Given the description of an element on the screen output the (x, y) to click on. 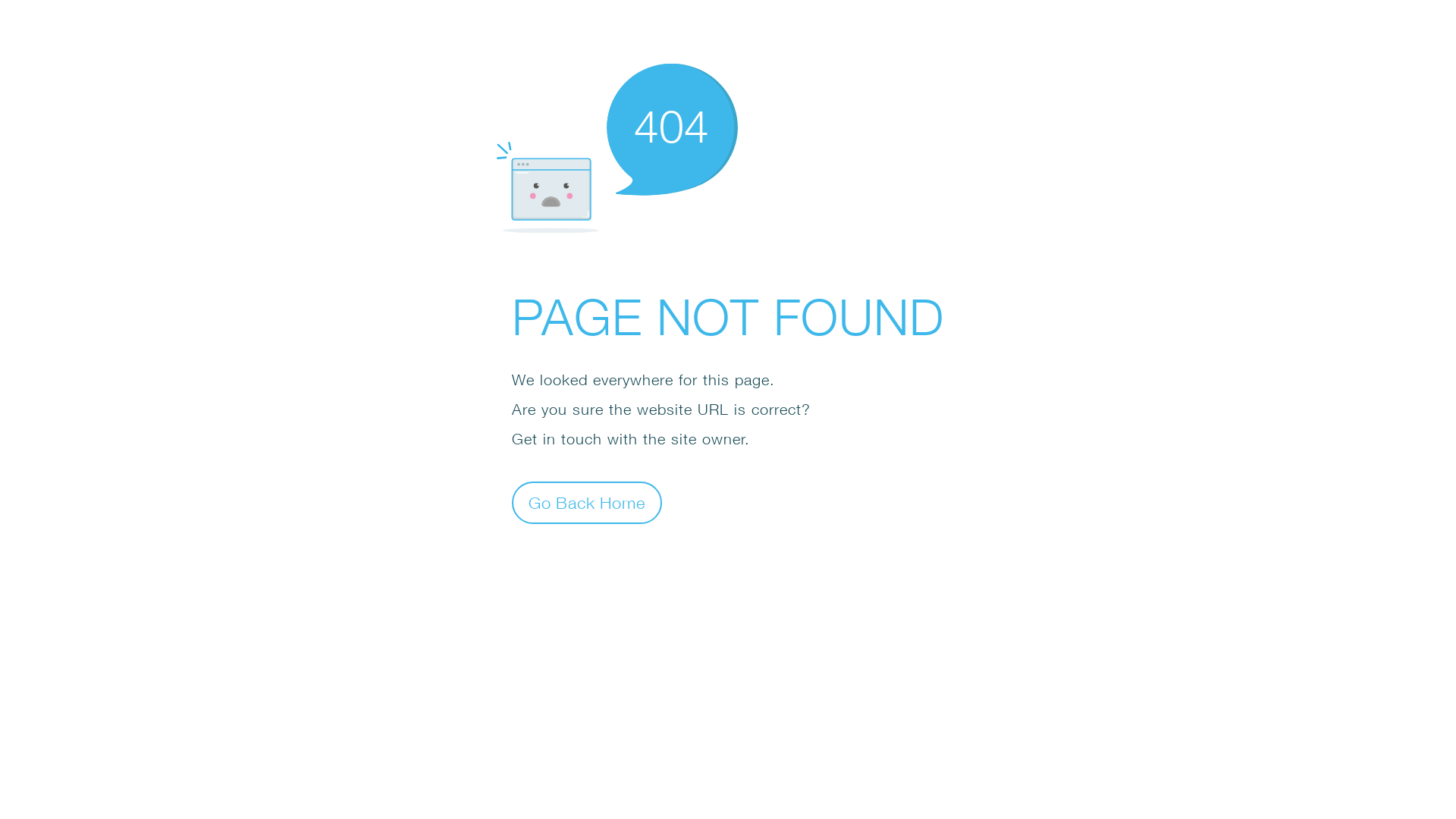
Go Back Home Element type: text (586, 502)
